Given the description of an element on the screen output the (x, y) to click on. 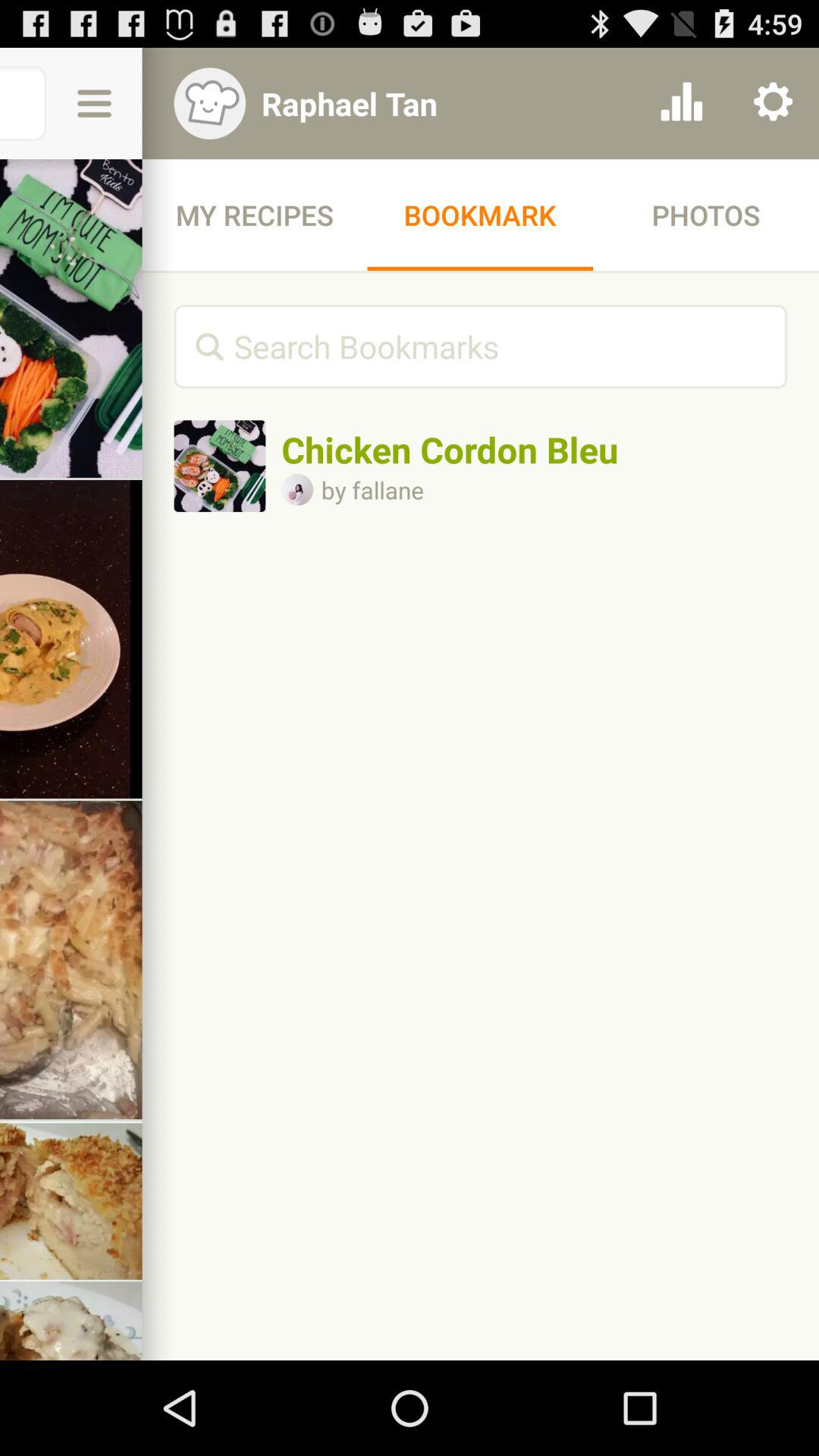
select raphael tan icon (440, 103)
